Given the description of an element on the screen output the (x, y) to click on. 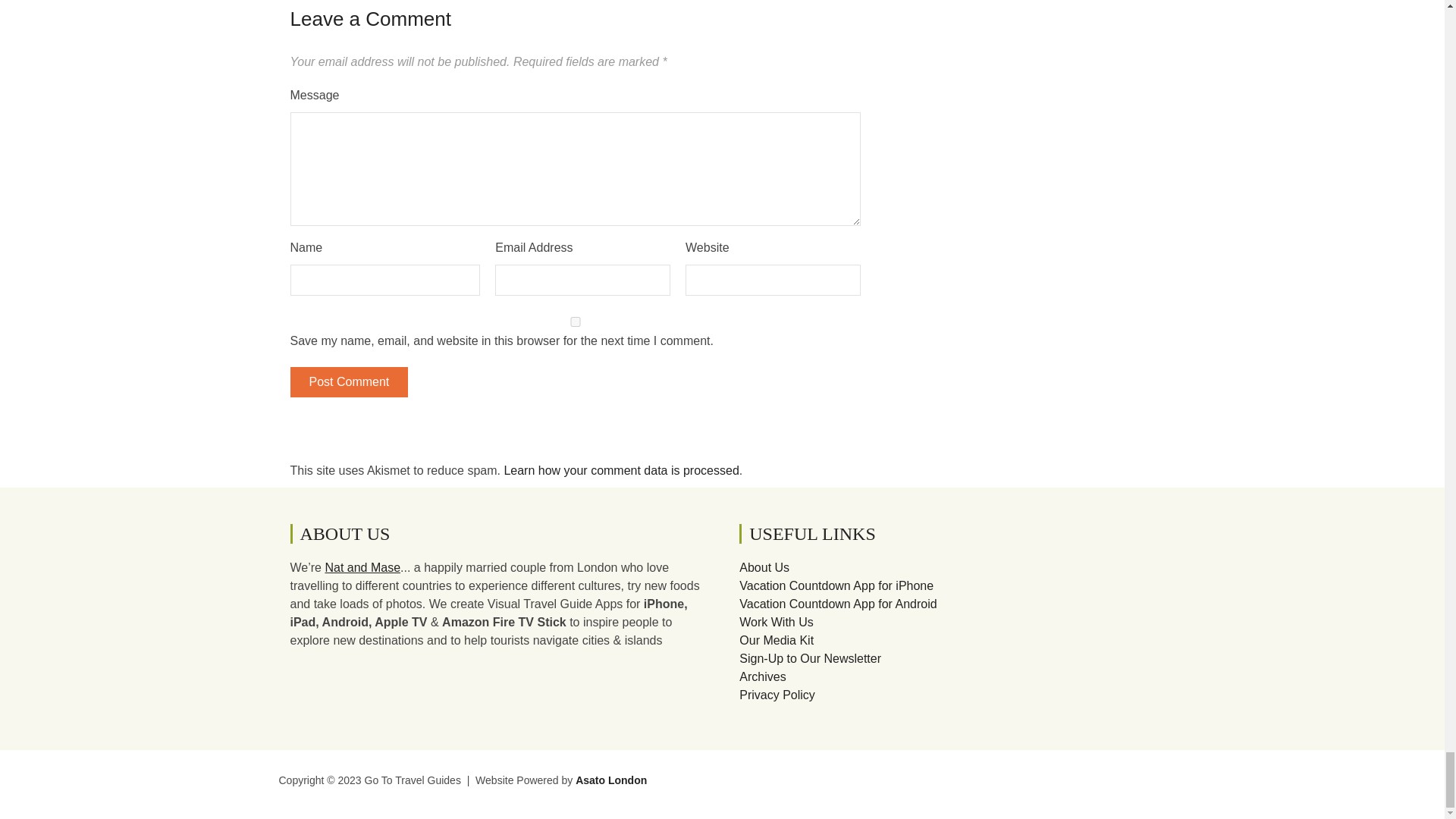
yes (574, 321)
Post Comment (348, 381)
